Given the description of an element on the screen output the (x, y) to click on. 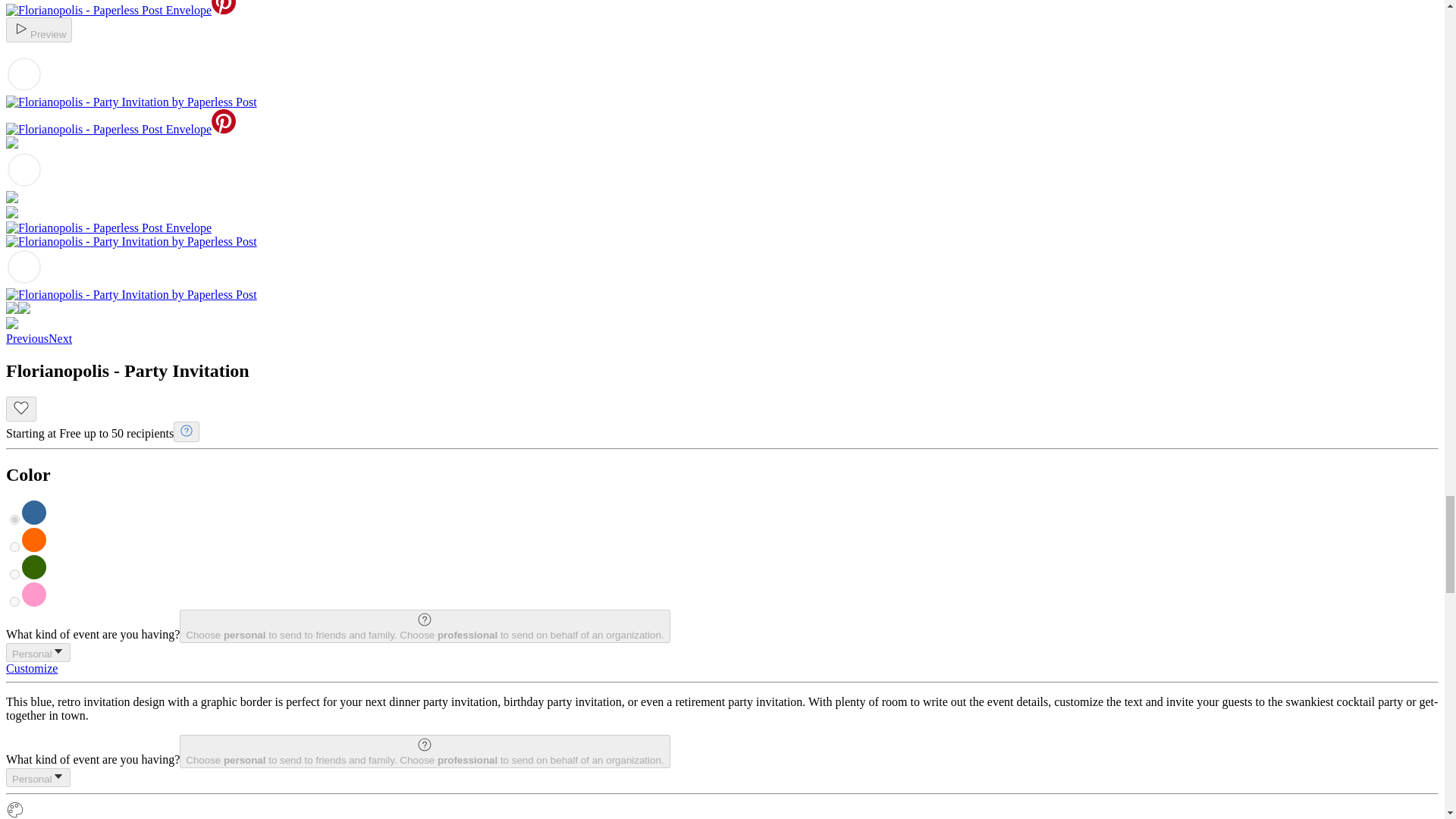
on (15, 519)
on (15, 601)
Pinterest icon (223, 7)
on (15, 574)
on (15, 547)
play icon (20, 28)
